Given the description of an element on the screen output the (x, y) to click on. 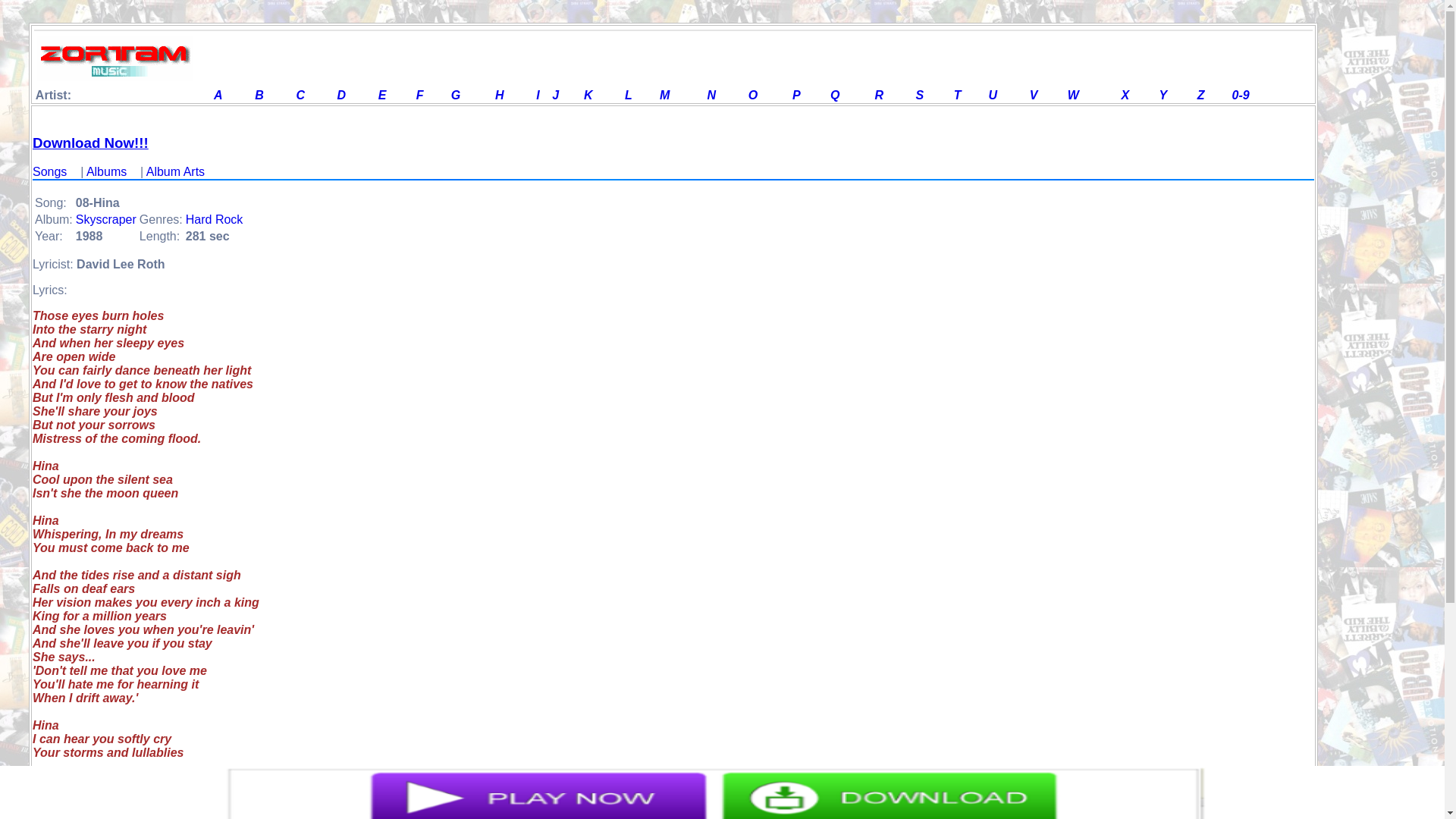
0-9 (1240, 94)
Download Now!!! (90, 142)
Songs (49, 171)
Hard Rock (214, 219)
Albums (105, 171)
Skyscraper (105, 219)
Album Arts (176, 171)
